Given the description of an element on the screen output the (x, y) to click on. 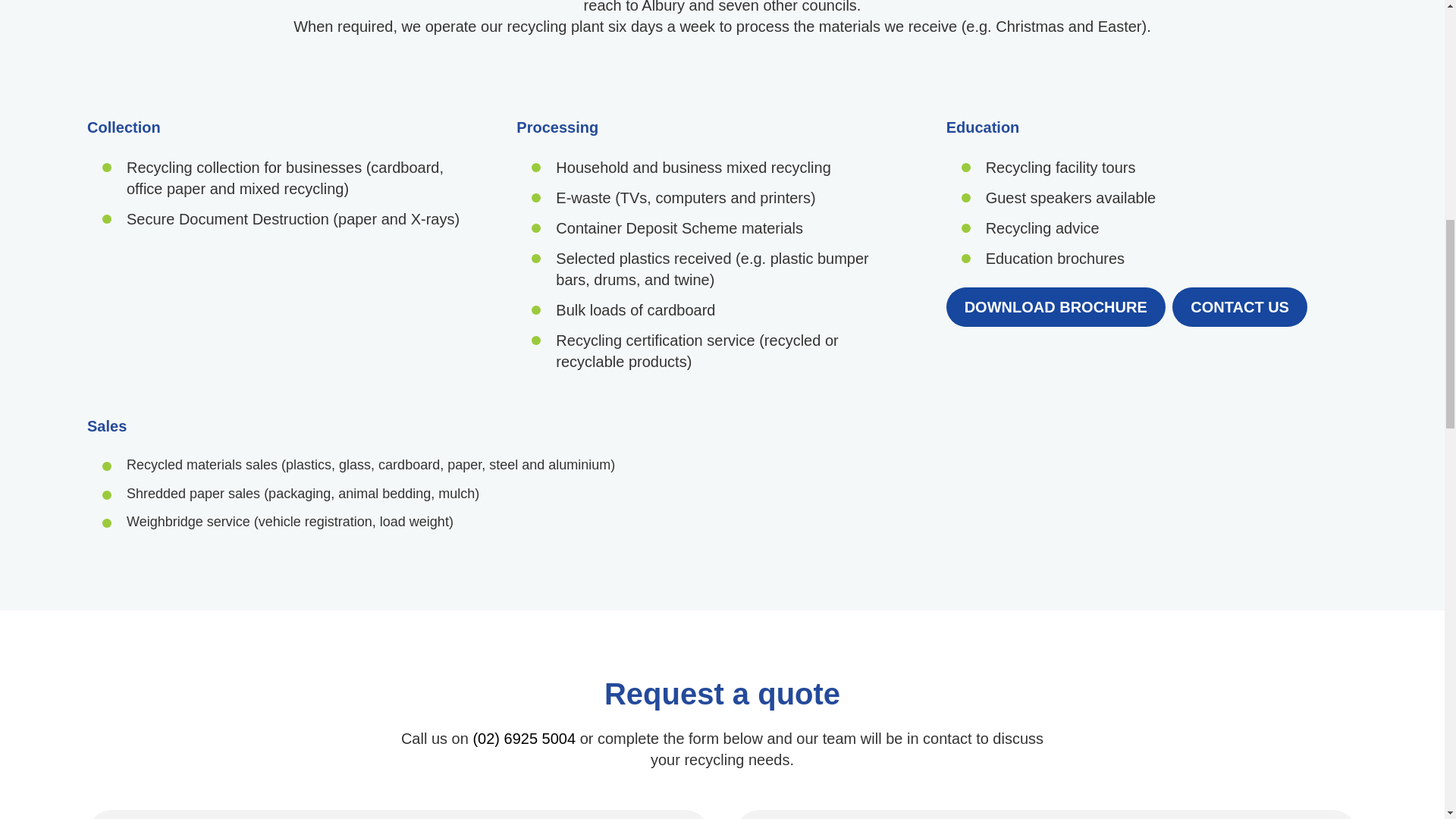
Download Brochure (1056, 306)
Contact Us (1239, 306)
